Given the description of an element on the screen output the (x, y) to click on. 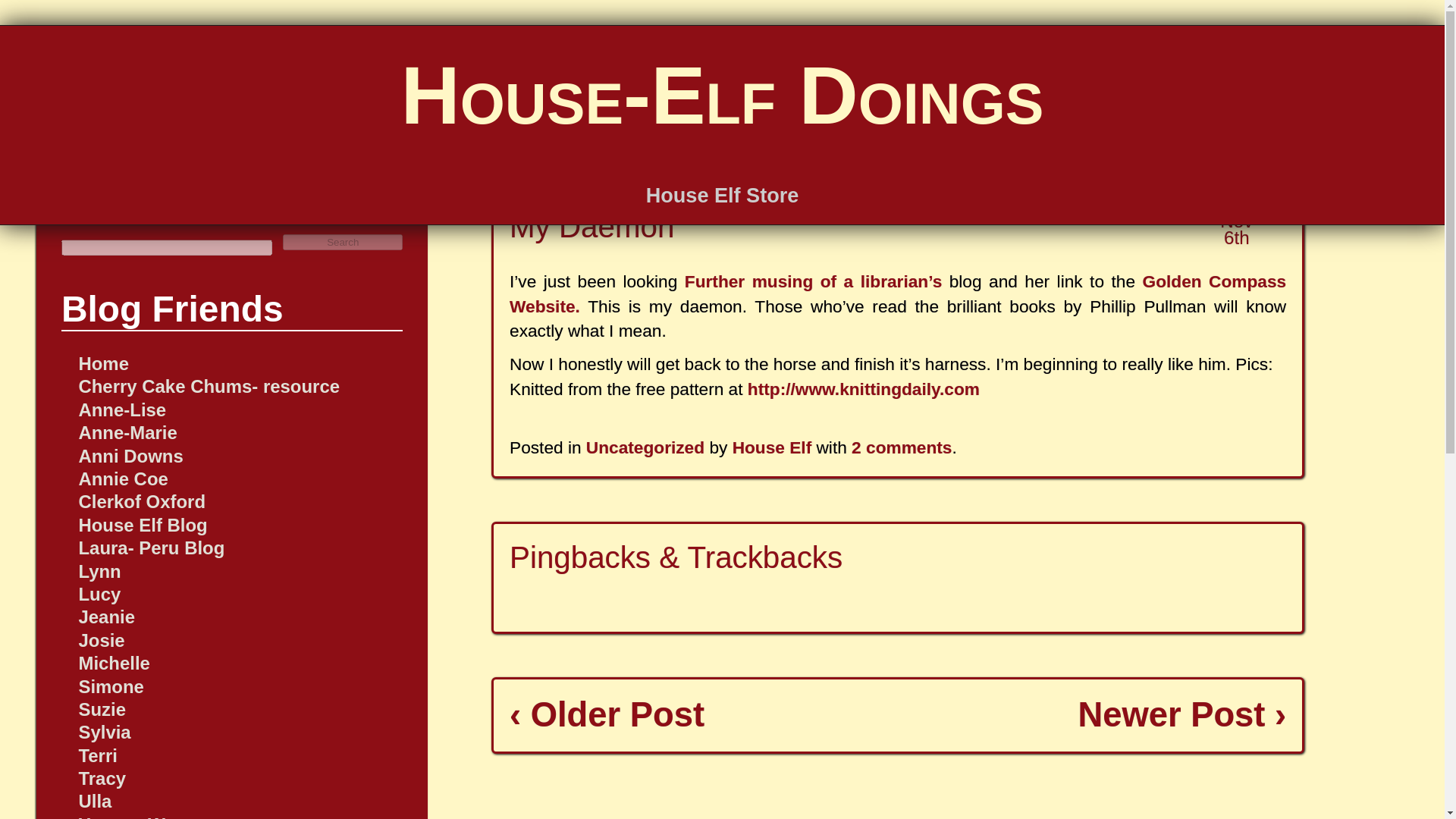
Ulla (95, 801)
Josie (100, 639)
Jeanie (106, 616)
Golden Compass Website. (897, 293)
Search (342, 242)
Sylvia (104, 731)
Posts by House Elf (772, 447)
Cherry Cake Chums- resource (208, 385)
Anni Downs (130, 455)
Tracy (101, 778)
House-Elf Doings (721, 94)
Lucy (99, 593)
Annie Coe (122, 478)
Laura- Peru Blog (151, 547)
Simone (110, 686)
